Given the description of an element on the screen output the (x, y) to click on. 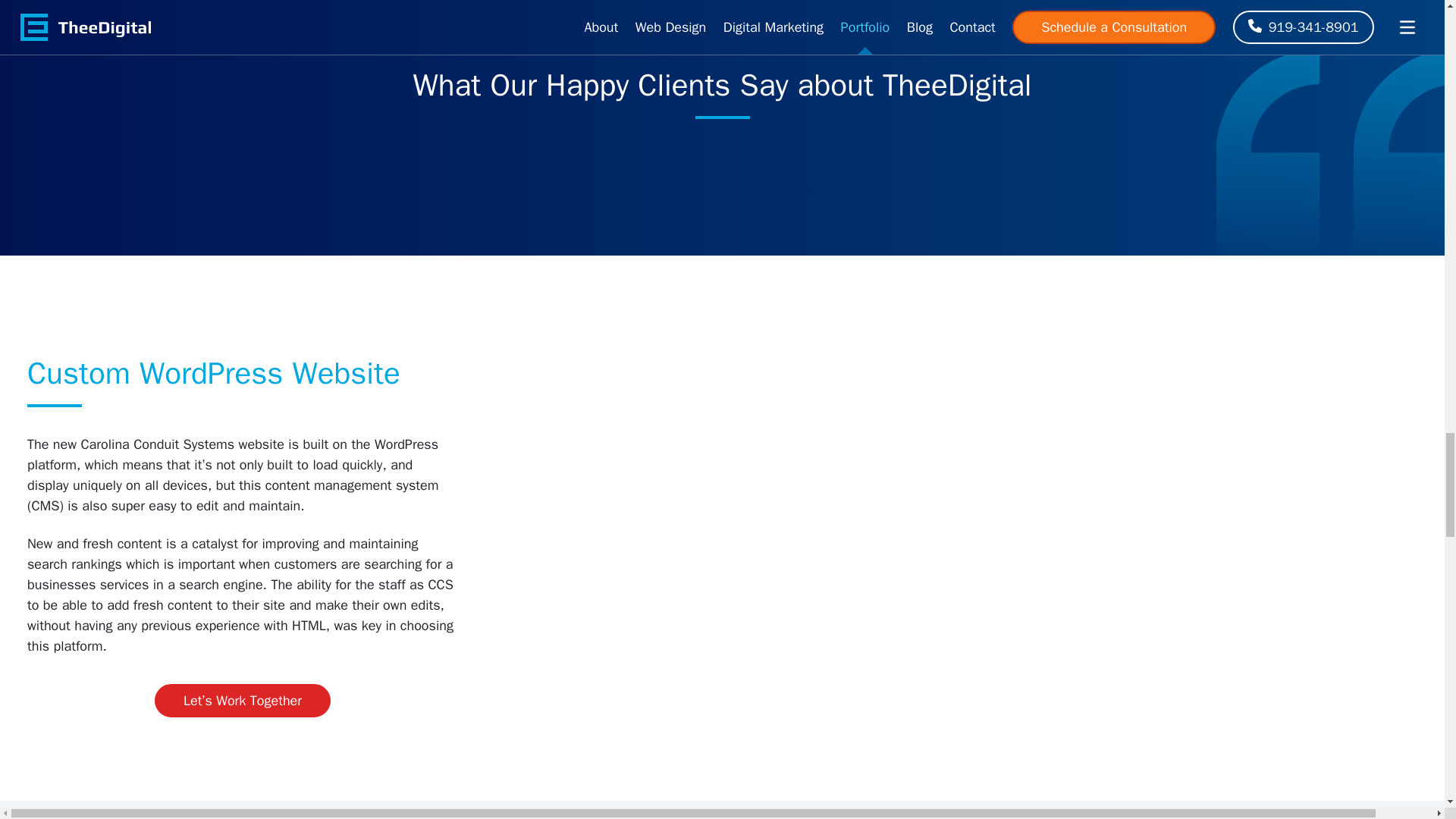
WordPress Development (213, 373)
